Given the description of an element on the screen output the (x, y) to click on. 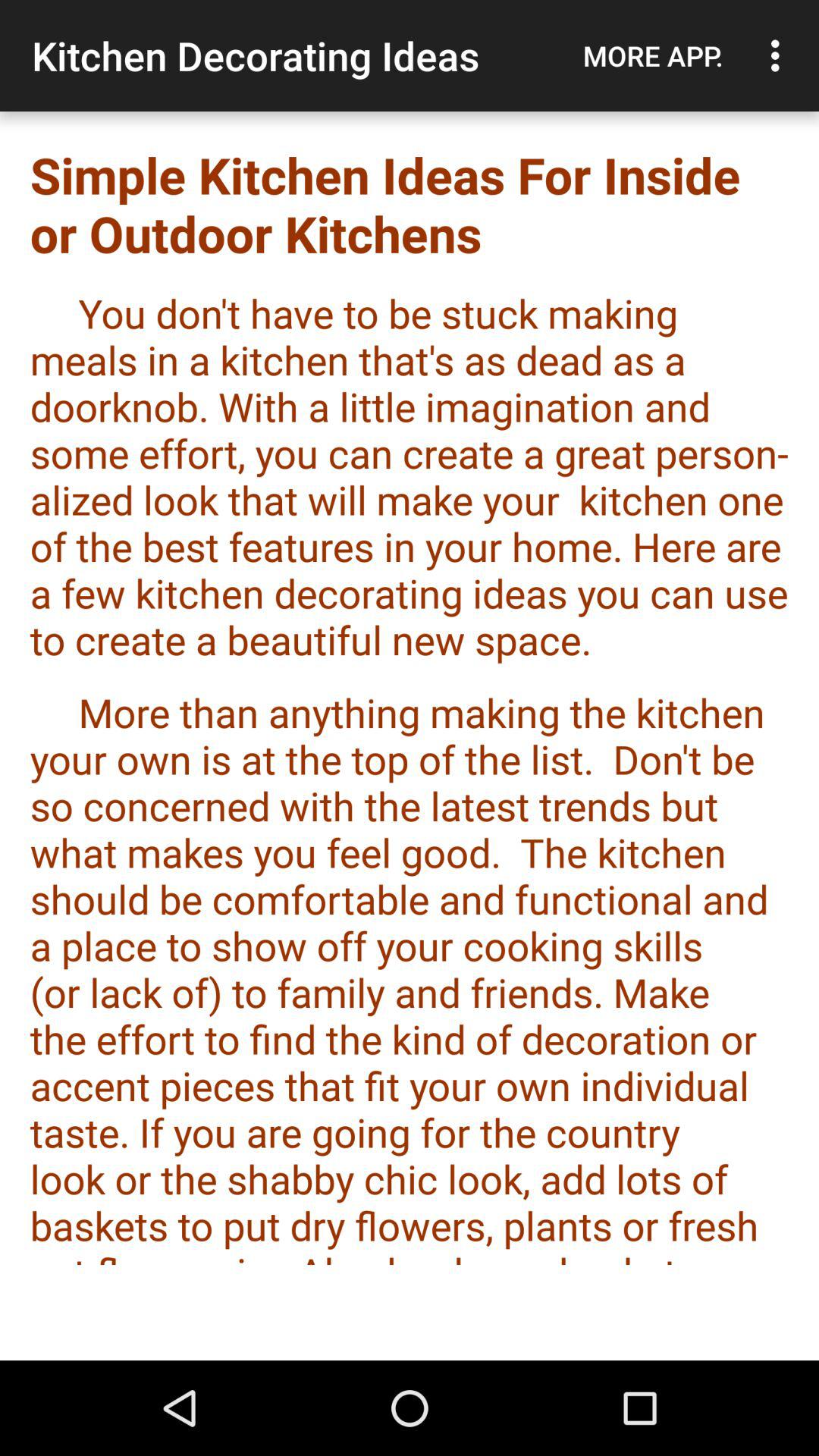
turn on the app next to the kitchen decorating ideas app (653, 55)
